Given the description of an element on the screen output the (x, y) to click on. 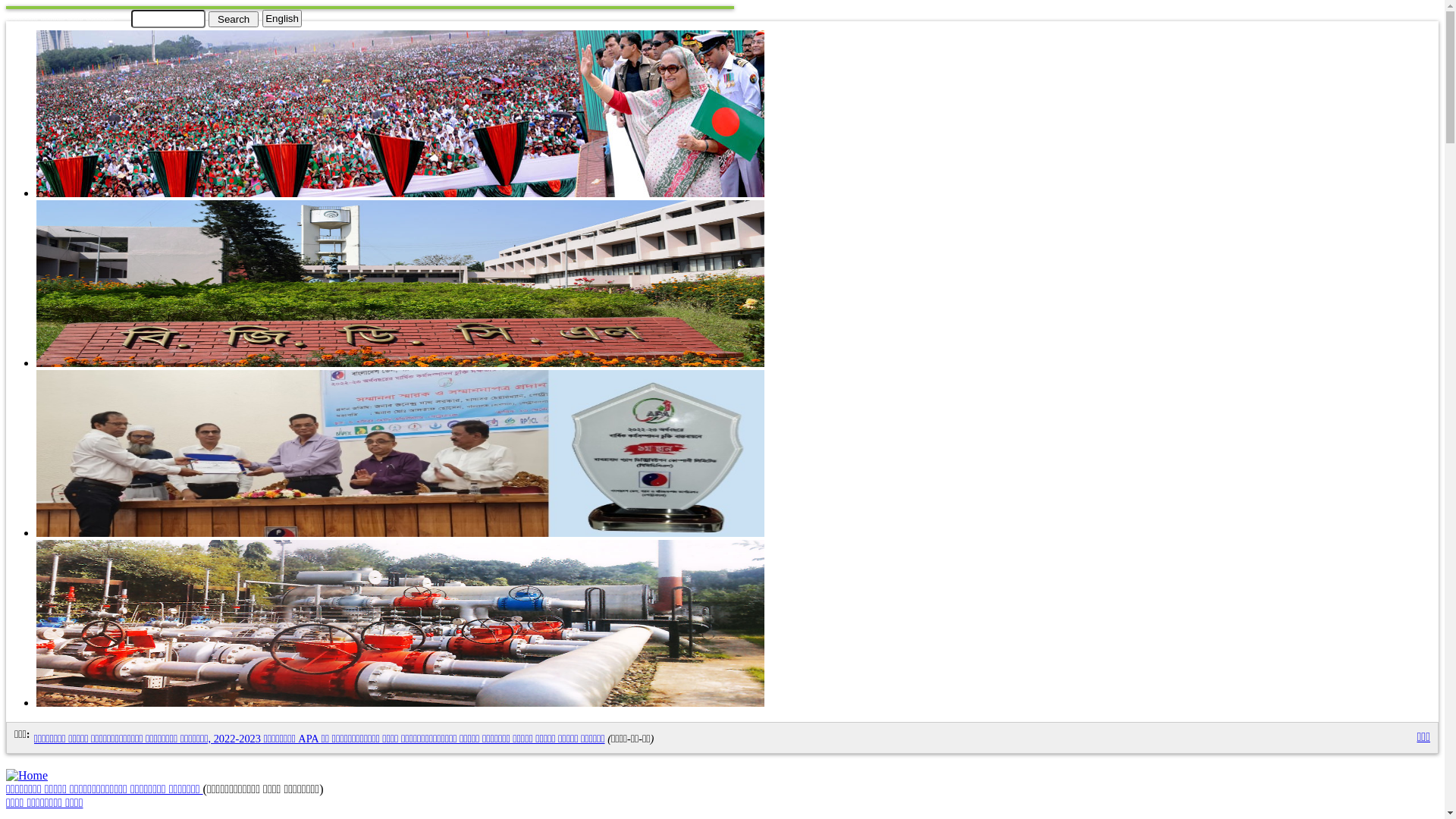
Home Element type: hover (26, 774)
Search Element type: text (233, 18)
English Element type: text (281, 18)
